Given the description of an element on the screen output the (x, y) to click on. 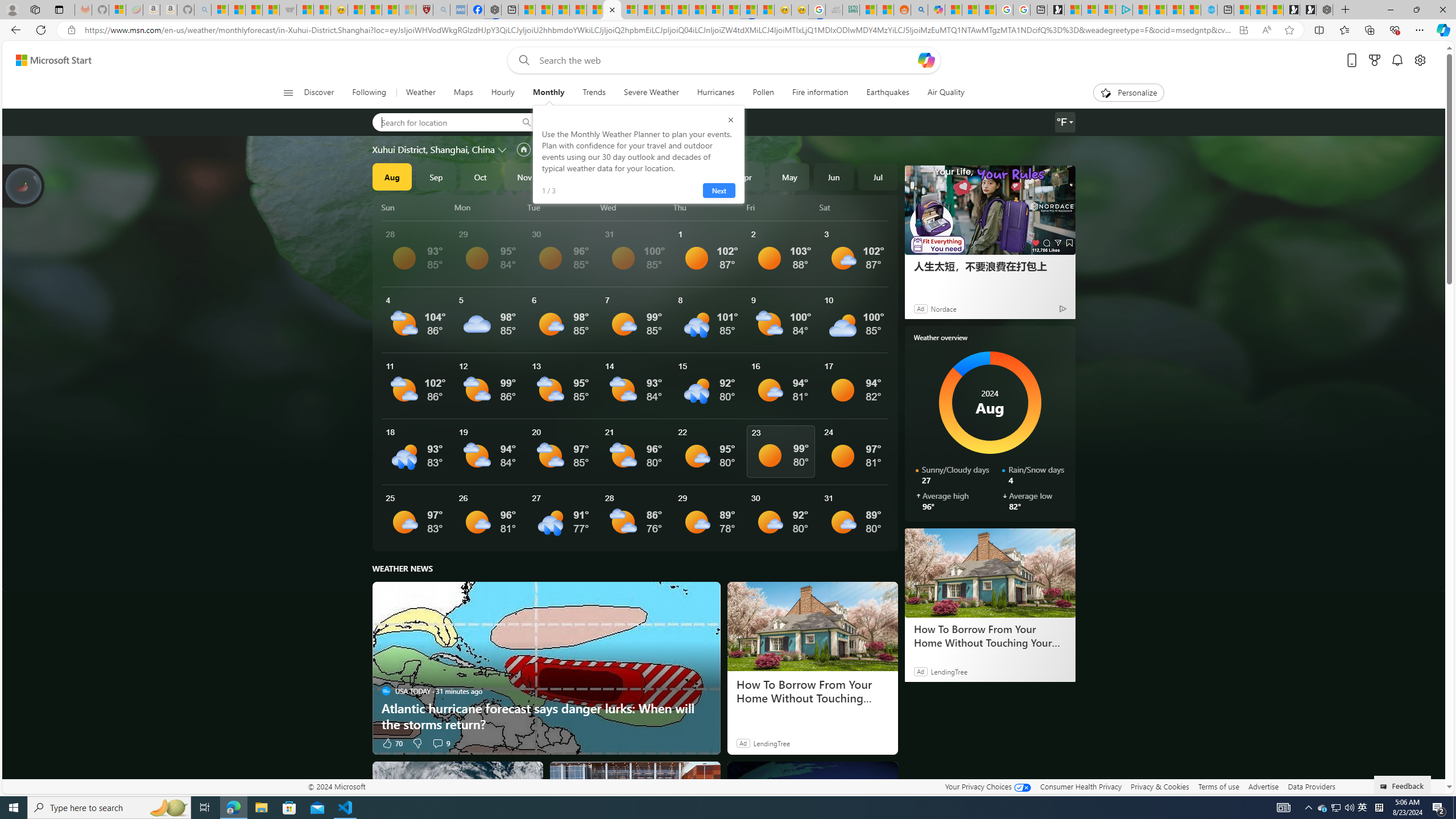
Mar (700, 176)
May (789, 176)
Your Privacy Choices (987, 785)
